Given the description of an element on the screen output the (x, y) to click on. 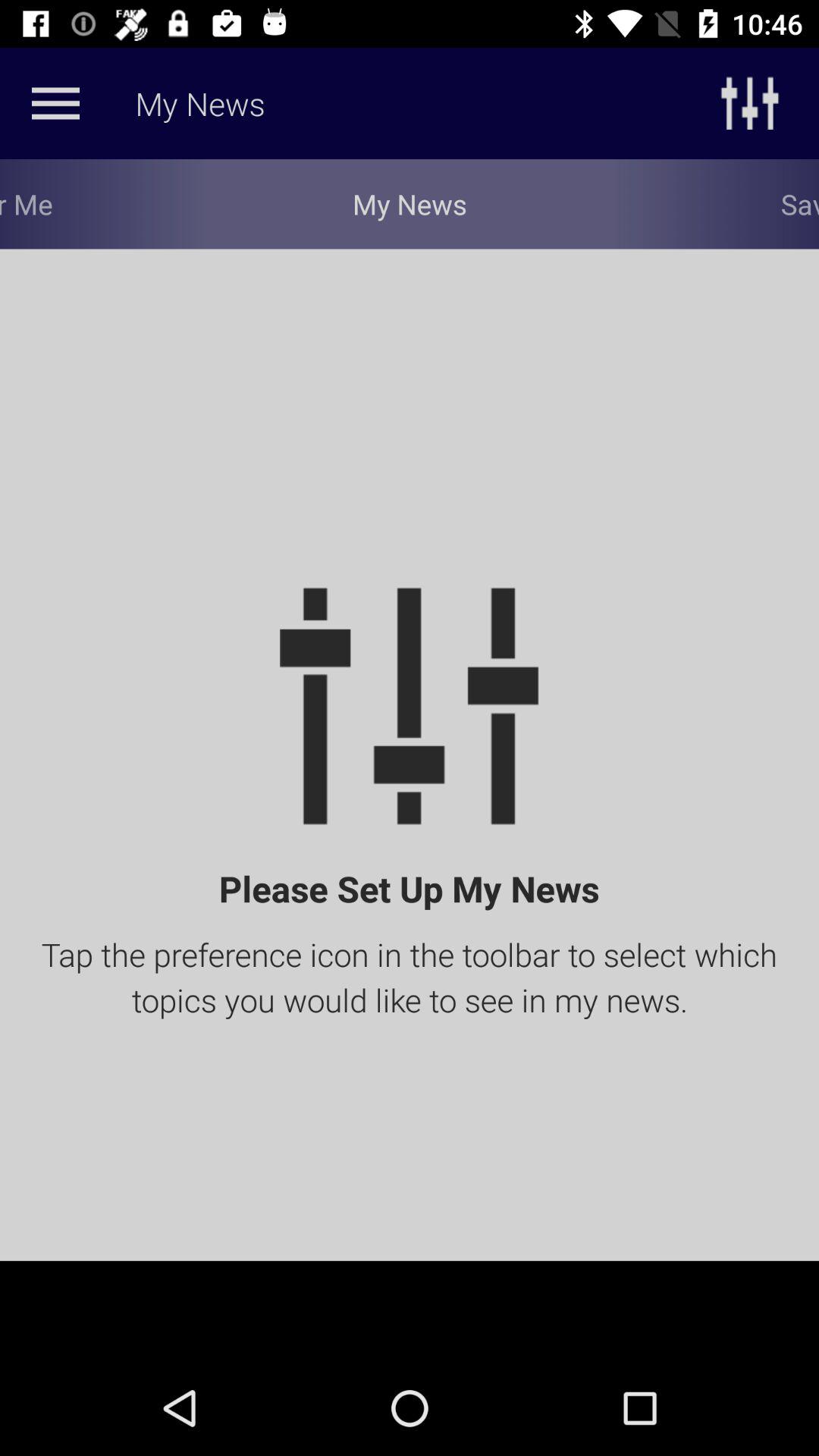
option (55, 103)
